Given the description of an element on the screen output the (x, y) to click on. 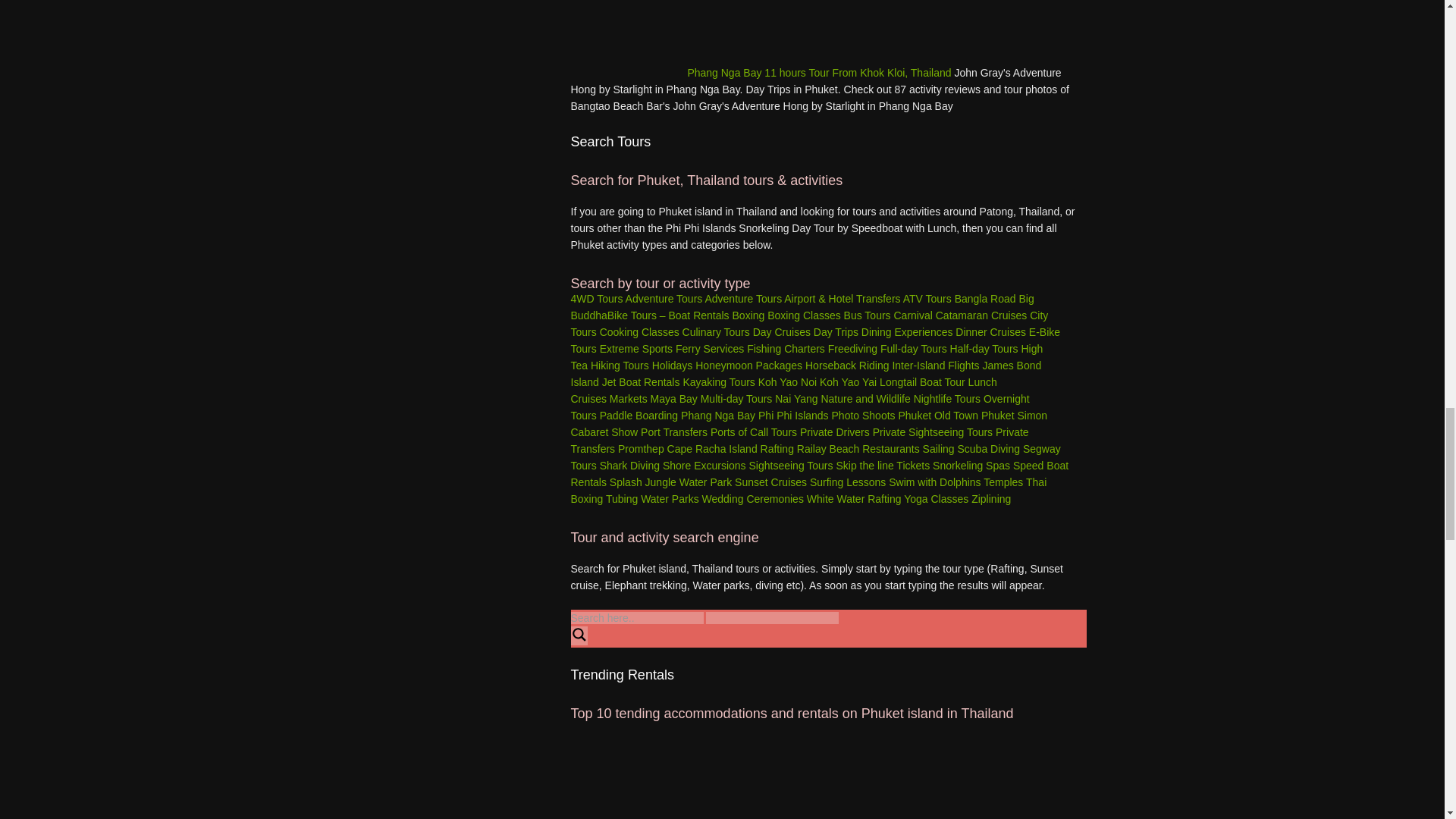
Raya Rawai Place (627, 777)
